Given the description of an element on the screen output the (x, y) to click on. 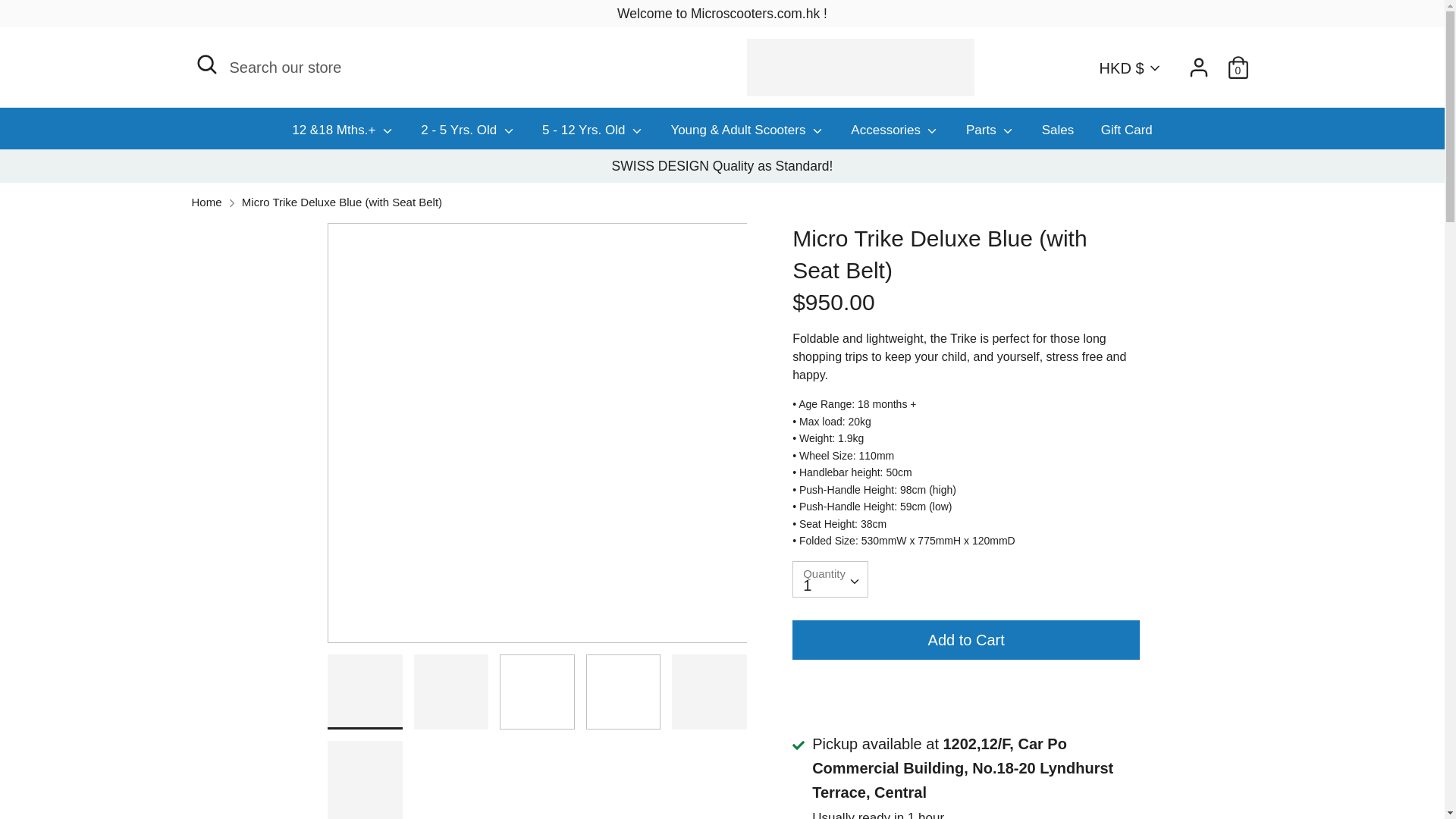
0 (1237, 64)
1 (830, 578)
